Given the description of an element on the screen output the (x, y) to click on. 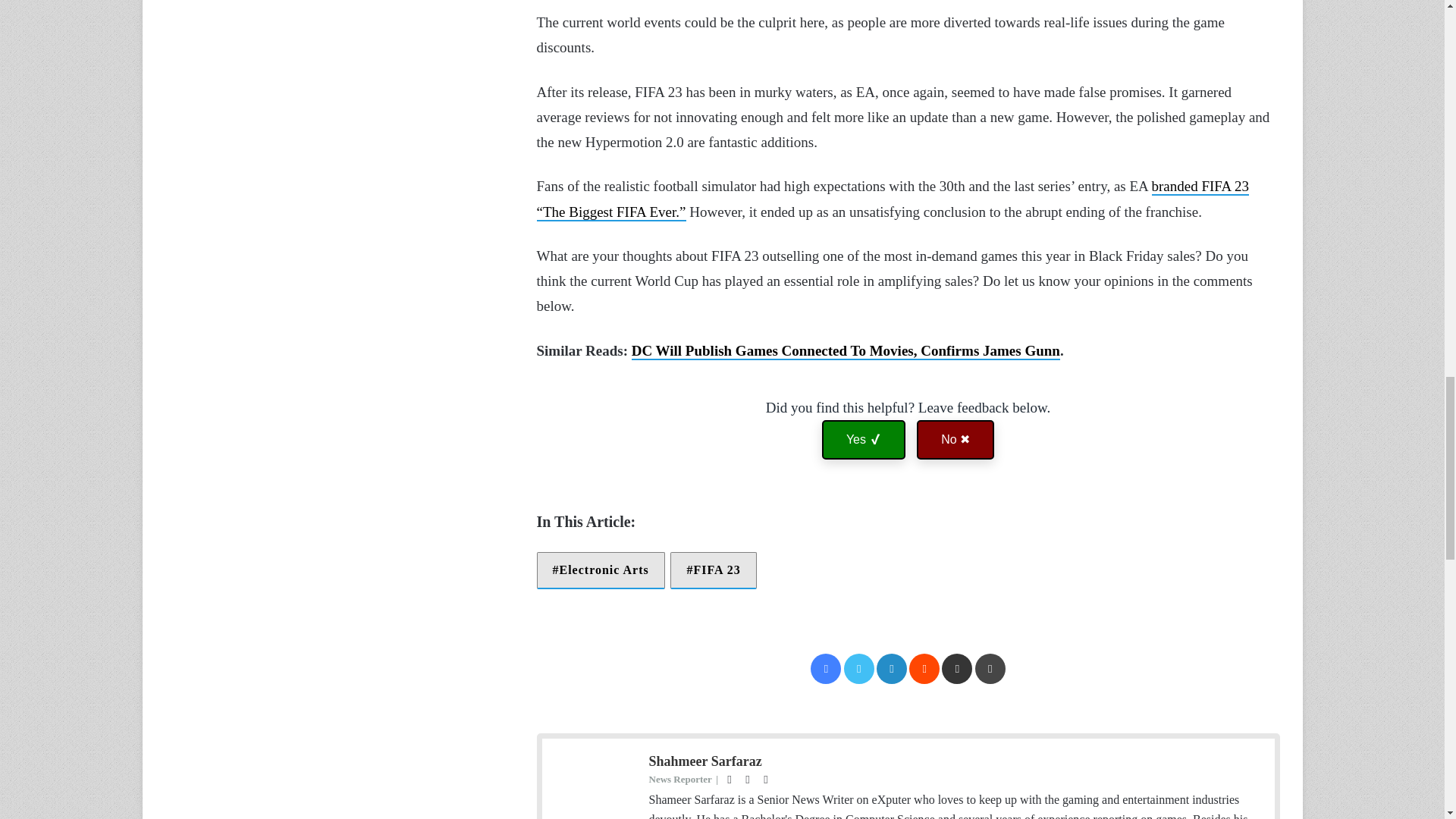
Reddit (923, 668)
Share via Email (957, 668)
Print (990, 668)
Facebook (825, 668)
Twitter (859, 668)
LinkedIn (891, 668)
